Given the description of an element on the screen output the (x, y) to click on. 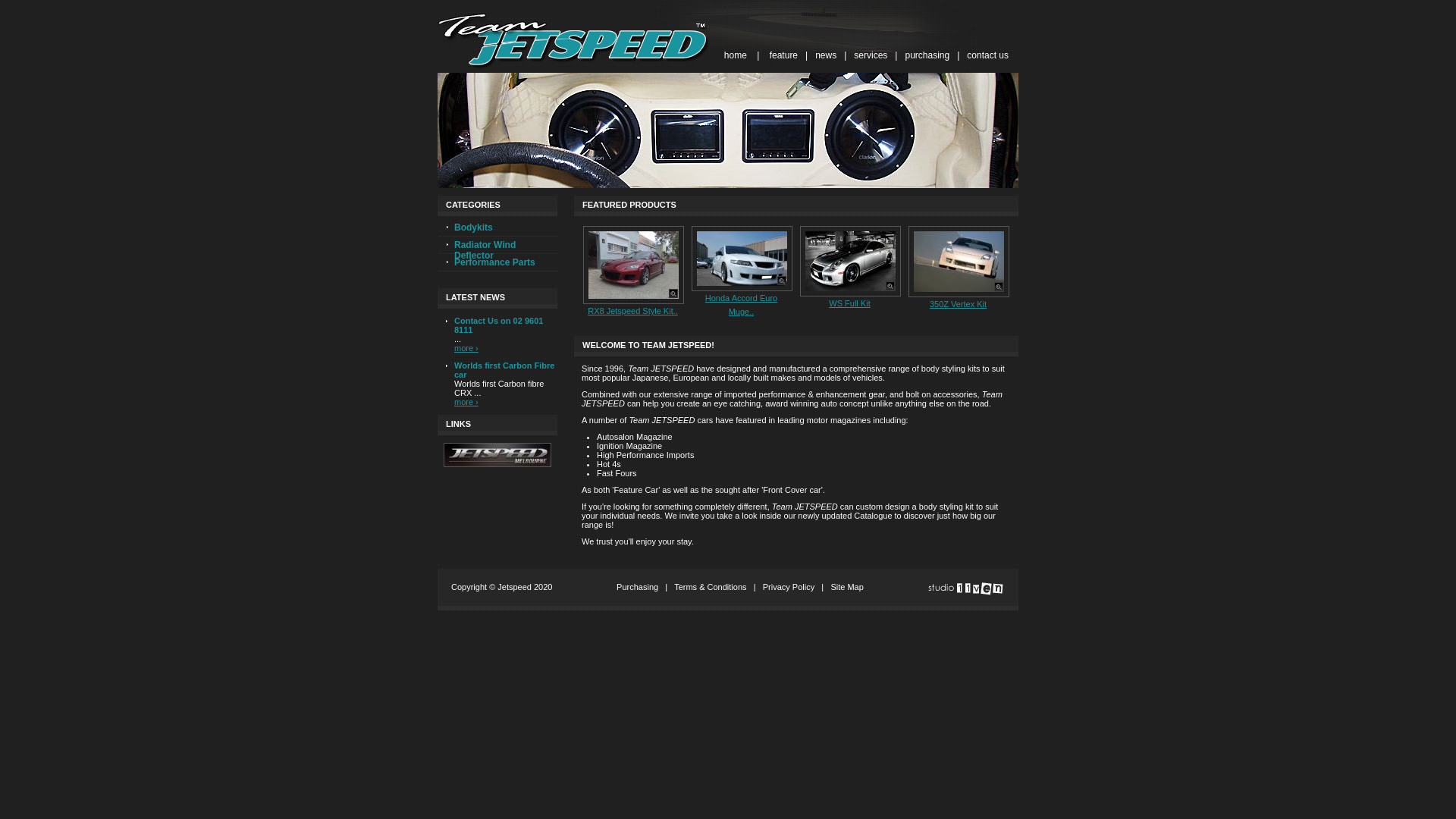
RX8 Jetspeed Style Kit.. Element type: text (632, 310)
WS Full Kit Element type: text (849, 303)
services Element type: text (870, 55)
Sydney Web Design by studio eleven Element type: hover (965, 589)
Purchasing Element type: text (637, 586)
Terms & Conditions Element type: text (710, 586)
Bodykits Element type: text (497, 227)
Honda Accord Euro Muge.. Element type: text (740, 304)
contact us Element type: text (987, 55)
350Z Vertex Kit Element type: hover (958, 261)
news Element type: text (825, 55)
RX8 Jetspeed Style Kit  Element type: hover (633, 264)
WS Full Kit Element type: hover (850, 260)
Site Map Element type: text (846, 586)
Privacy Policy Element type: text (788, 586)
Worlds first Carbon Fibre car Element type: text (504, 369)
350Z Vertex Kit Element type: text (957, 303)
Radiator Wind Deflector Element type: text (497, 245)
feature Element type: text (783, 55)
Contact Us on 02 9601 8111 Element type: text (498, 325)
Performance Parts Element type: text (497, 262)
home Element type: text (735, 55)
purchasing Element type: text (926, 55)
Honda Accord Euro Mugen Kit Element type: hover (741, 258)
